Given the description of an element on the screen output the (x, y) to click on. 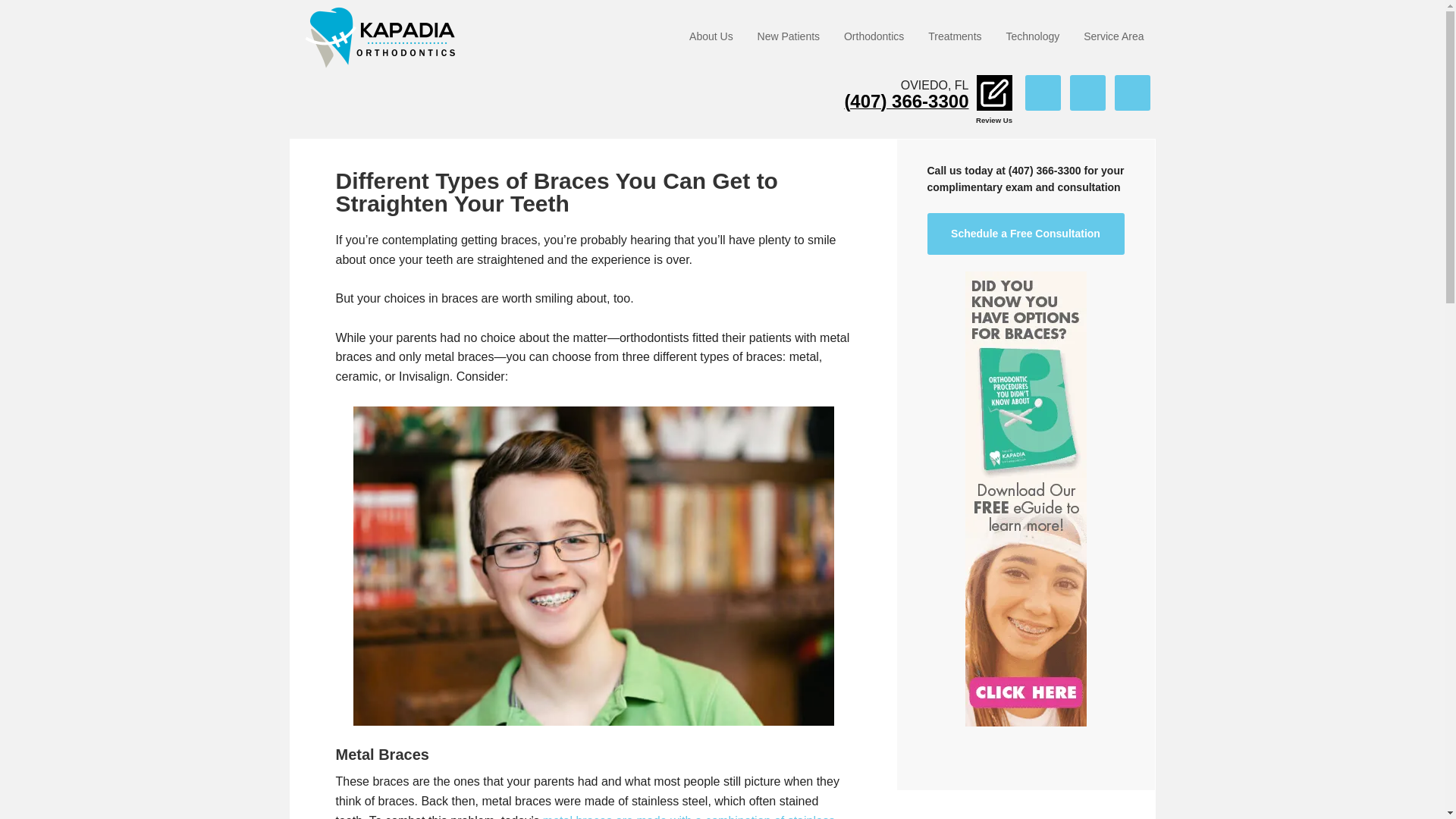
New Patients (787, 37)
Kapadia Orthodontics (387, 38)
Orthodontics (873, 37)
Technology (1032, 37)
Service Area (1113, 37)
Review Us! (993, 92)
Treatments (954, 37)
